Given the description of an element on the screen output the (x, y) to click on. 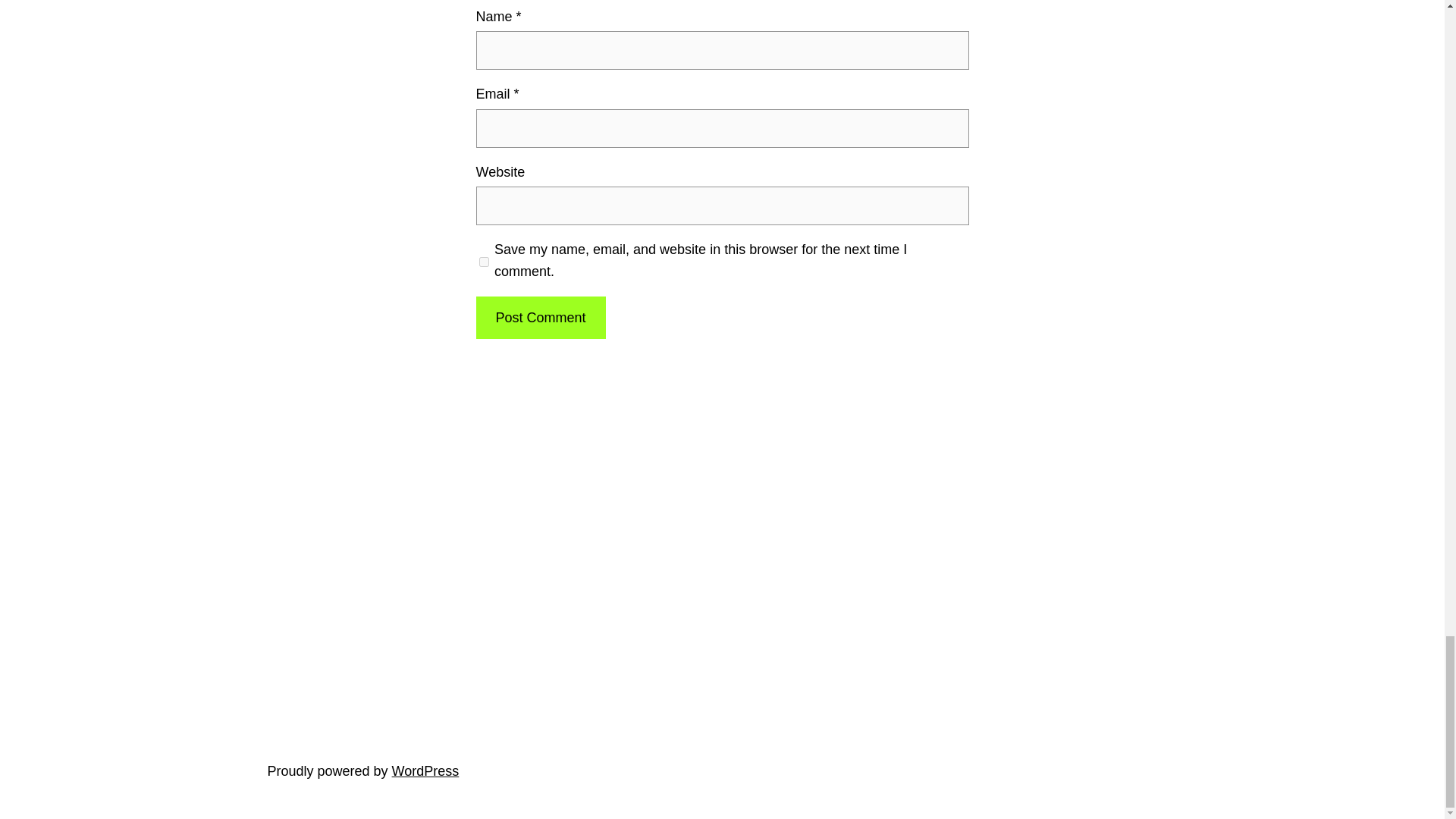
WordPress (425, 770)
Post Comment (540, 317)
Post Comment (540, 317)
